Given the description of an element on the screen output the (x, y) to click on. 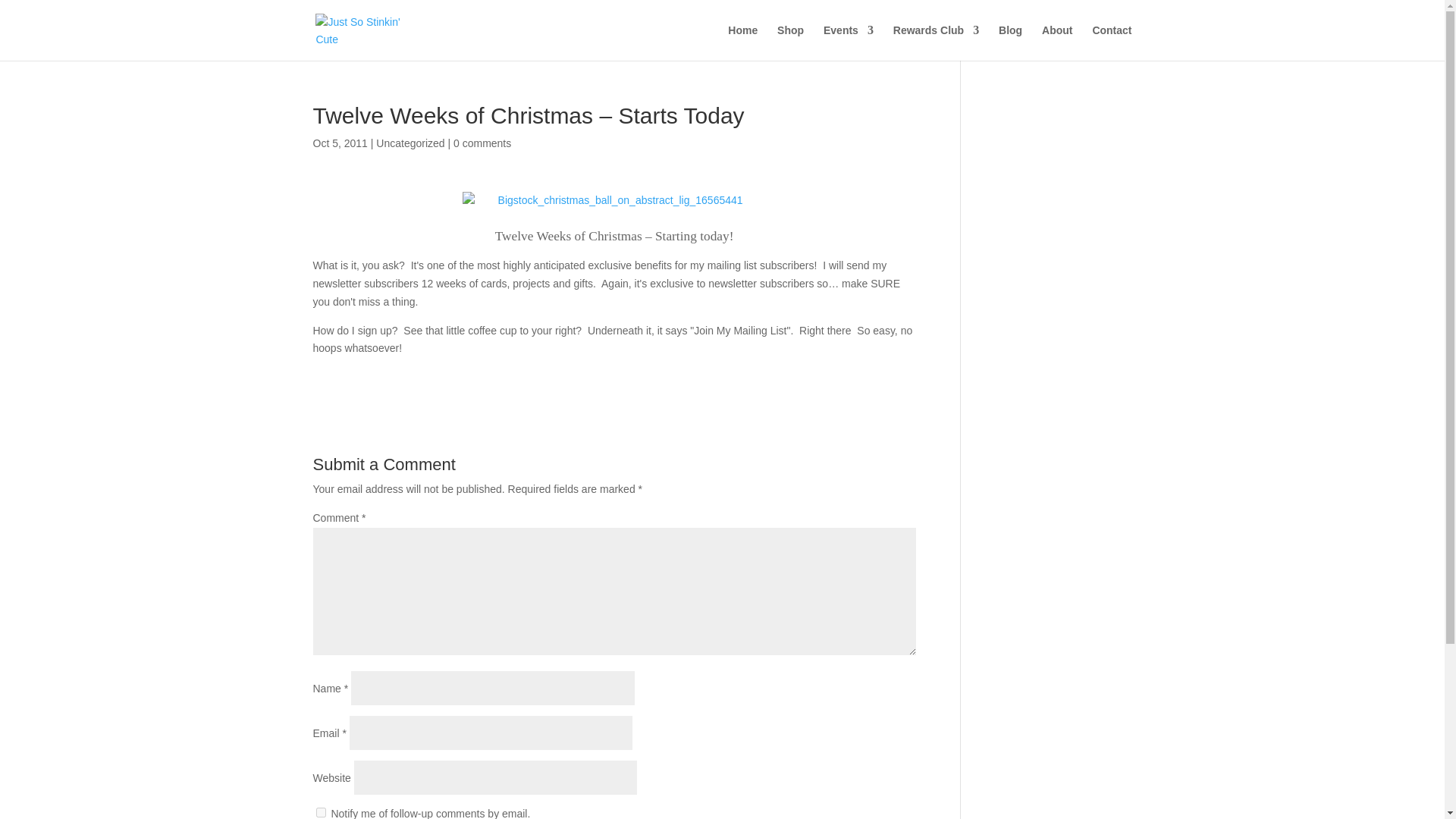
subscribe (319, 812)
Shop (790, 42)
0 comments (481, 143)
Home (742, 42)
About (1056, 42)
Rewards Club (935, 42)
Events (848, 42)
Uncategorized (409, 143)
Blog (1010, 42)
Contact (1111, 42)
